Given the description of an element on the screen output the (x, y) to click on. 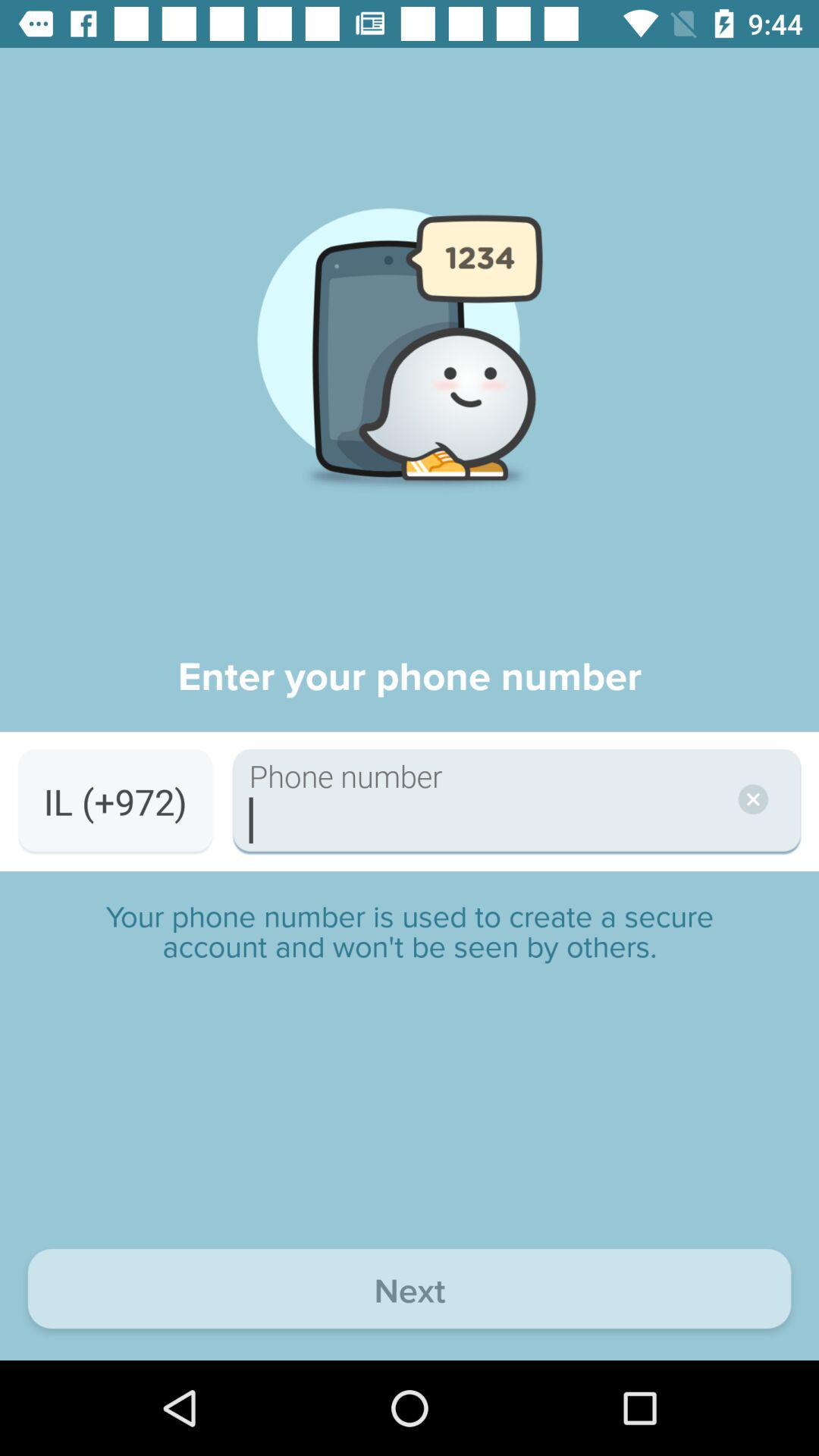
launch the il (+972) on the left (114, 801)
